Given the description of an element on the screen output the (x, y) to click on. 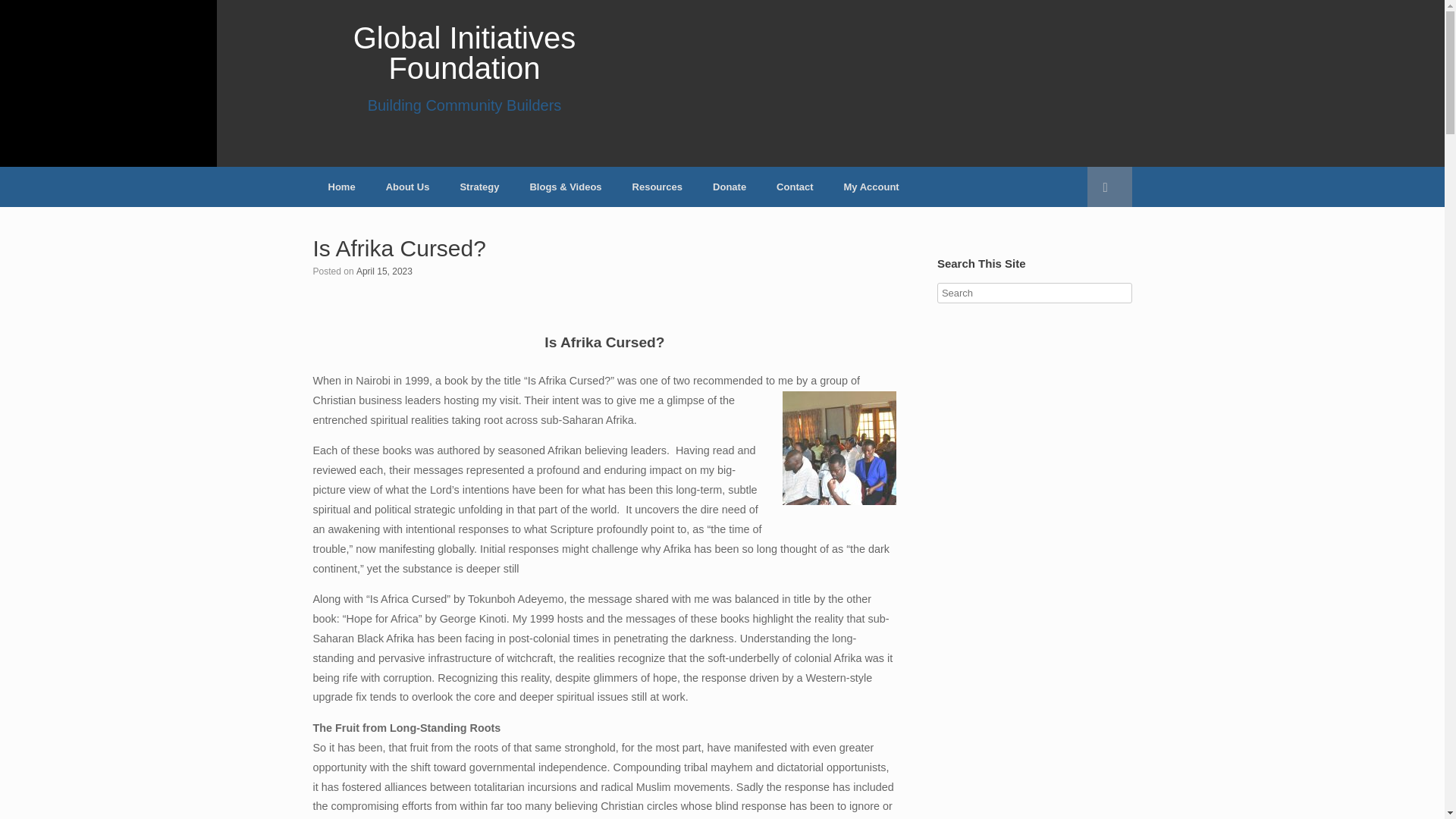
About Us (408, 187)
Contact (794, 187)
Donate (729, 187)
April 15, 2023 (384, 270)
Resources (657, 187)
Global Initiatives Foundation (464, 67)
10:25 pm (464, 67)
Strategy (384, 270)
My Account (478, 187)
